Given the description of an element on the screen output the (x, y) to click on. 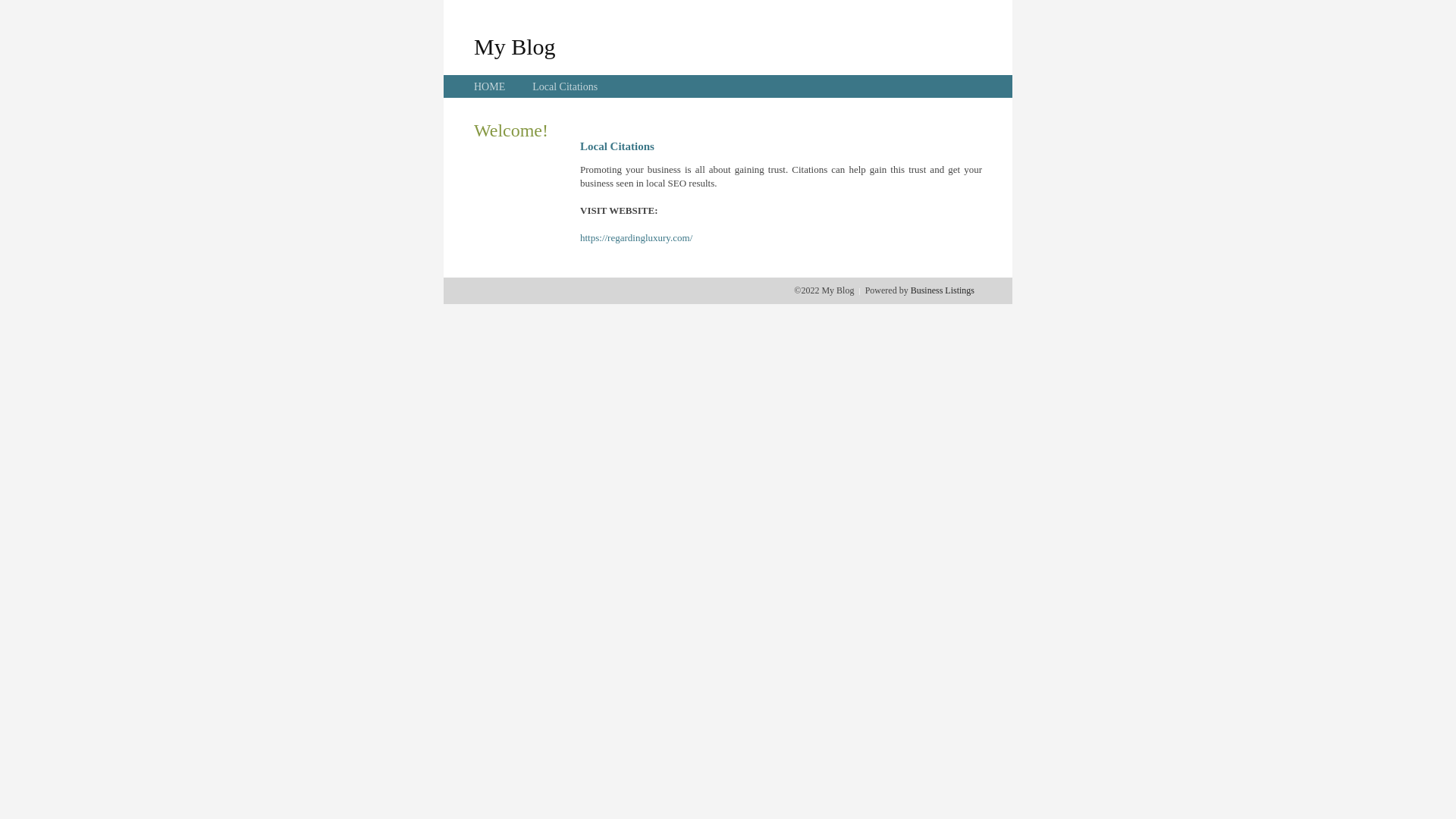
Business Listings Element type: text (942, 290)
HOME Element type: text (489, 86)
https://regardingluxury.com/ Element type: text (636, 237)
Local Citations Element type: text (564, 86)
My Blog Element type: text (514, 46)
